Given the description of an element on the screen output the (x, y) to click on. 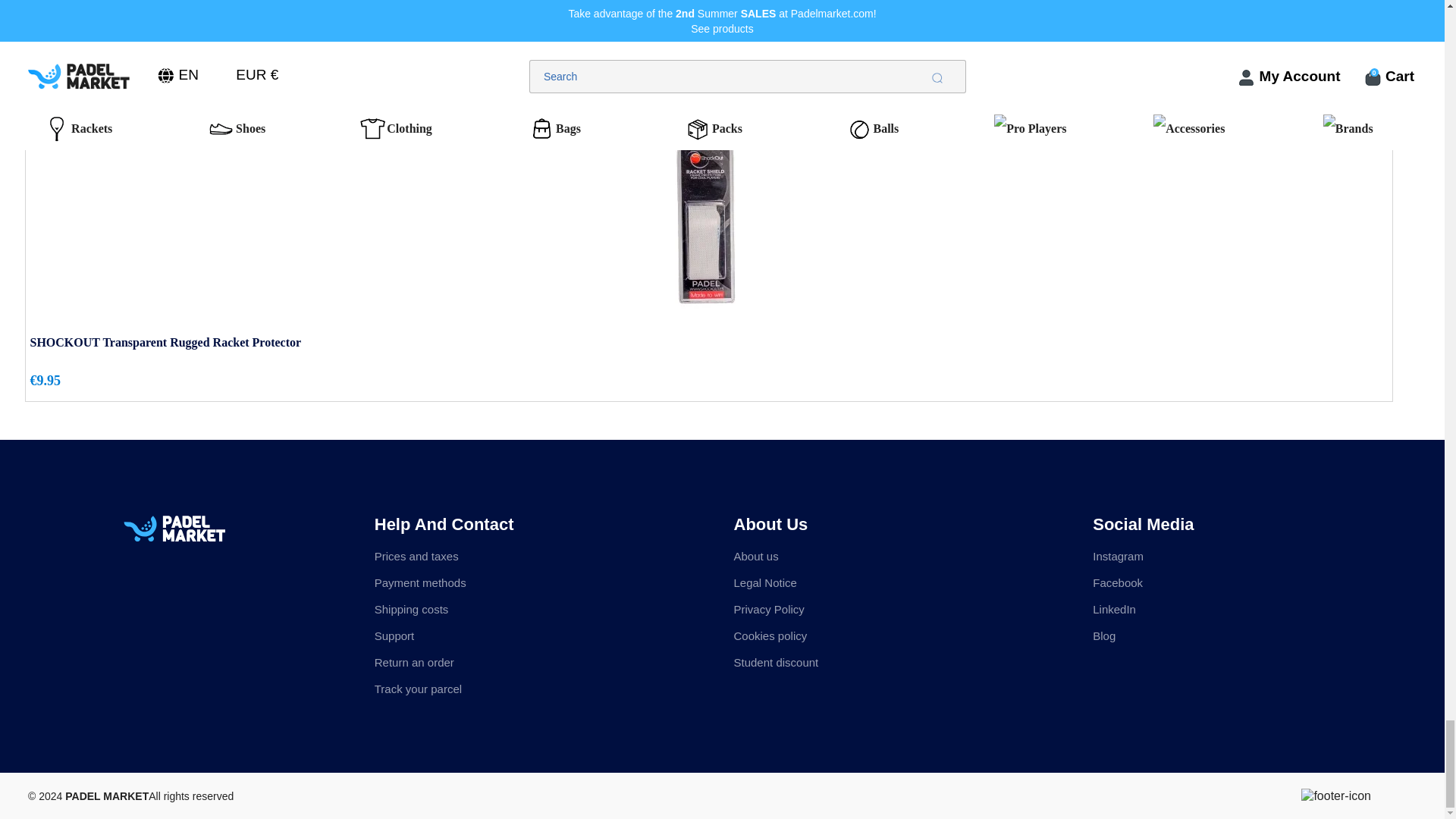
Add to Wishlist (1377, 101)
